Given the description of an element on the screen output the (x, y) to click on. 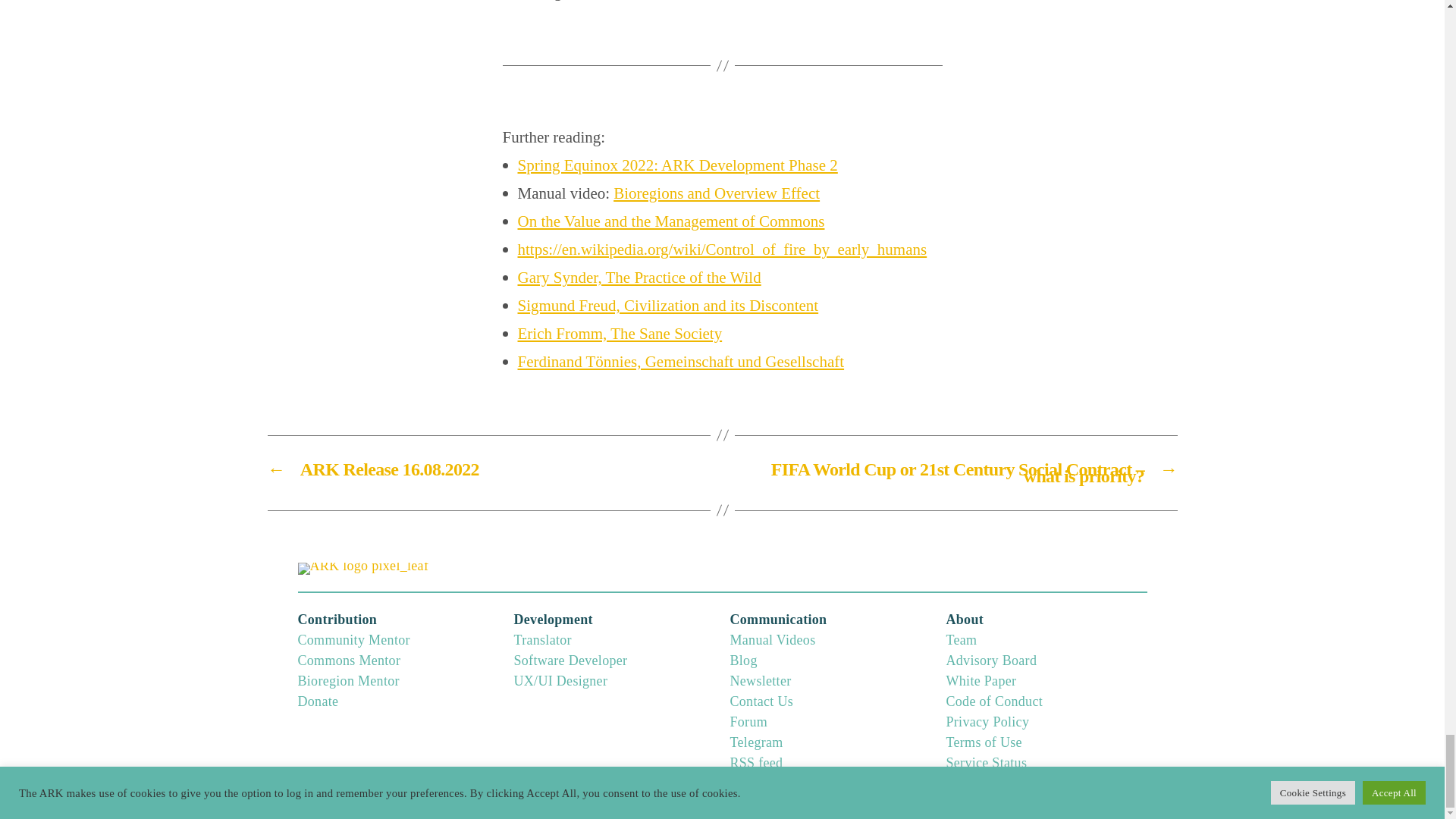
Bioregions and Overview Effect (715, 193)
Community Mentor (353, 639)
Spring Equinox 2022: ARK Development Phase 2 (676, 165)
Gary Synder, The Practice of the Wild (638, 277)
Erich Fromm, The Sane Society (619, 333)
On the Value and the Management of Commons (670, 221)
Sigmund Freud, Civilization and its Discontent (667, 305)
Commons Mentor (348, 660)
